Given the description of an element on the screen output the (x, y) to click on. 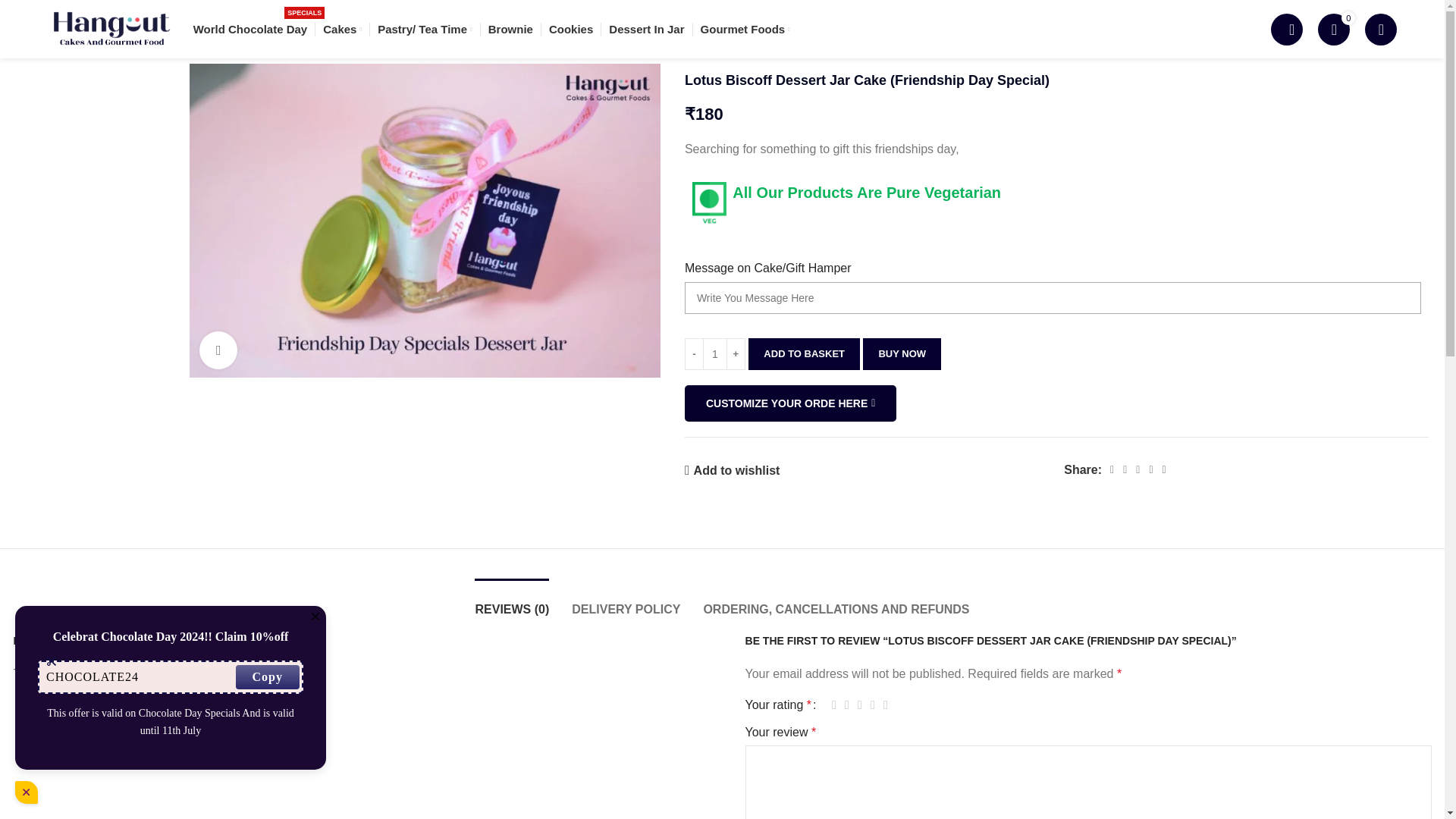
BUY NOW (901, 354)
Dessert In Jar (646, 28)
0 (1333, 28)
Search (1286, 28)
Shopping cart (1333, 28)
DELIVERY POLICY (625, 601)
ORDERING, CANCELLATIONS AND REFUNDS (836, 601)
Brownie (509, 28)
Add to wishlist (250, 28)
CUSTOMIZE YOUR ORDE HERE (731, 470)
My account (790, 402)
Cookies (1380, 28)
ADD TO BASKET (570, 28)
